Given the description of an element on the screen output the (x, y) to click on. 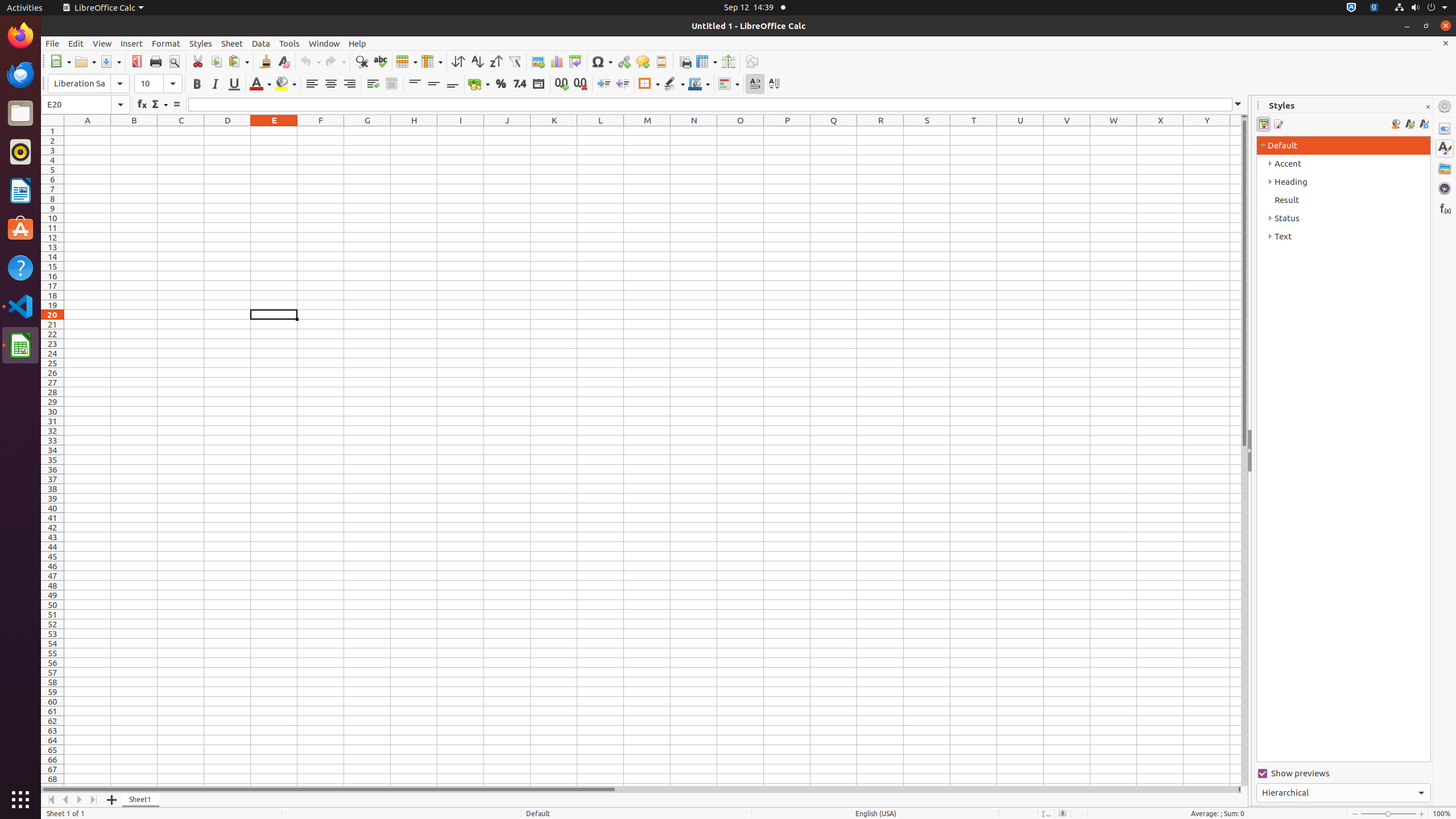
Redo Element type: push-button (334, 61)
Font Size Element type: combo-box (158, 83)
AutoFilter Element type: push-button (514, 61)
Rhythmbox Element type: push-button (20, 151)
Print Area Element type: push-button (684, 61)
